Given the description of an element on the screen output the (x, y) to click on. 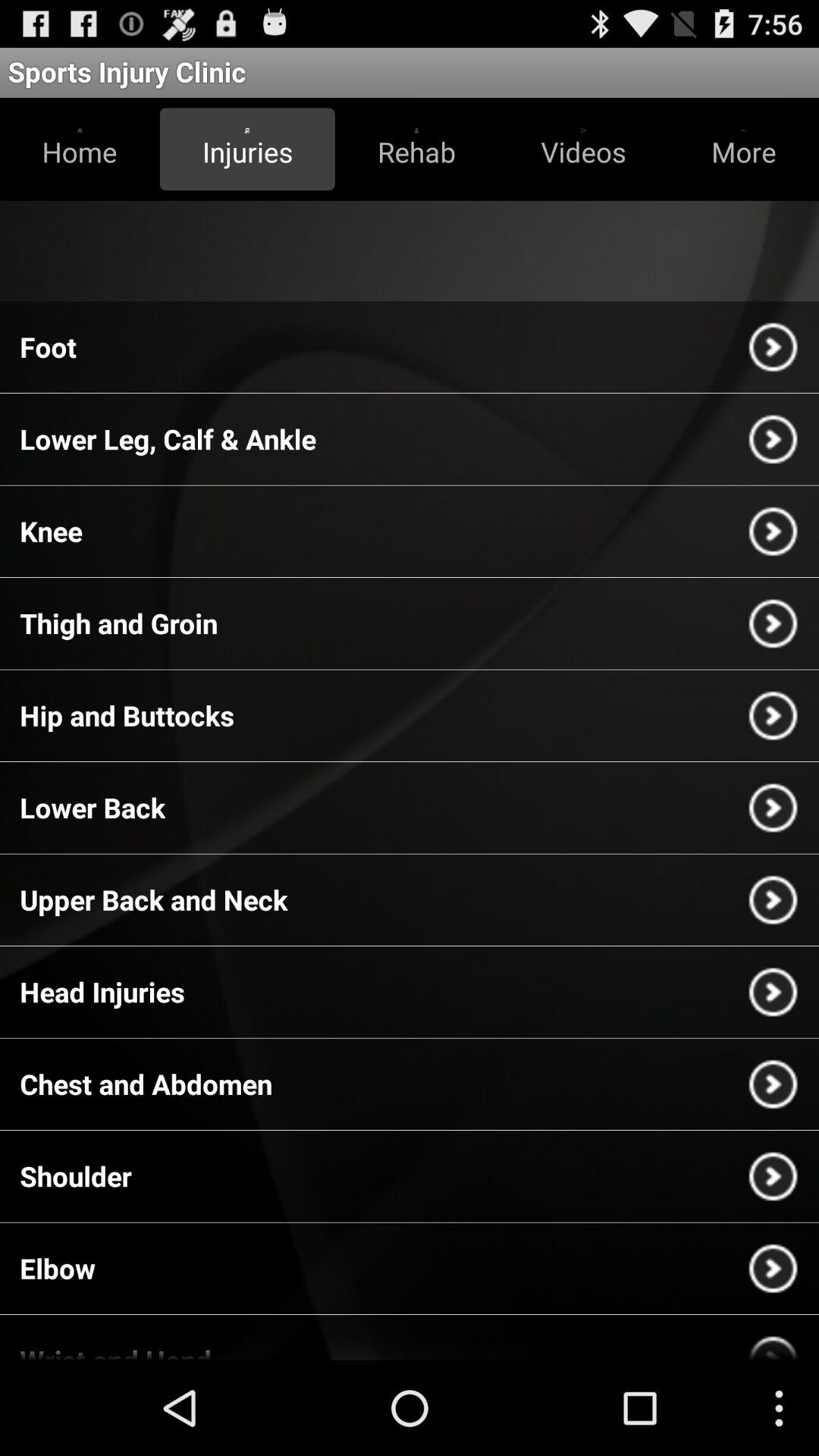
select lower leg calf app (167, 438)
